Given the description of an element on the screen output the (x, y) to click on. 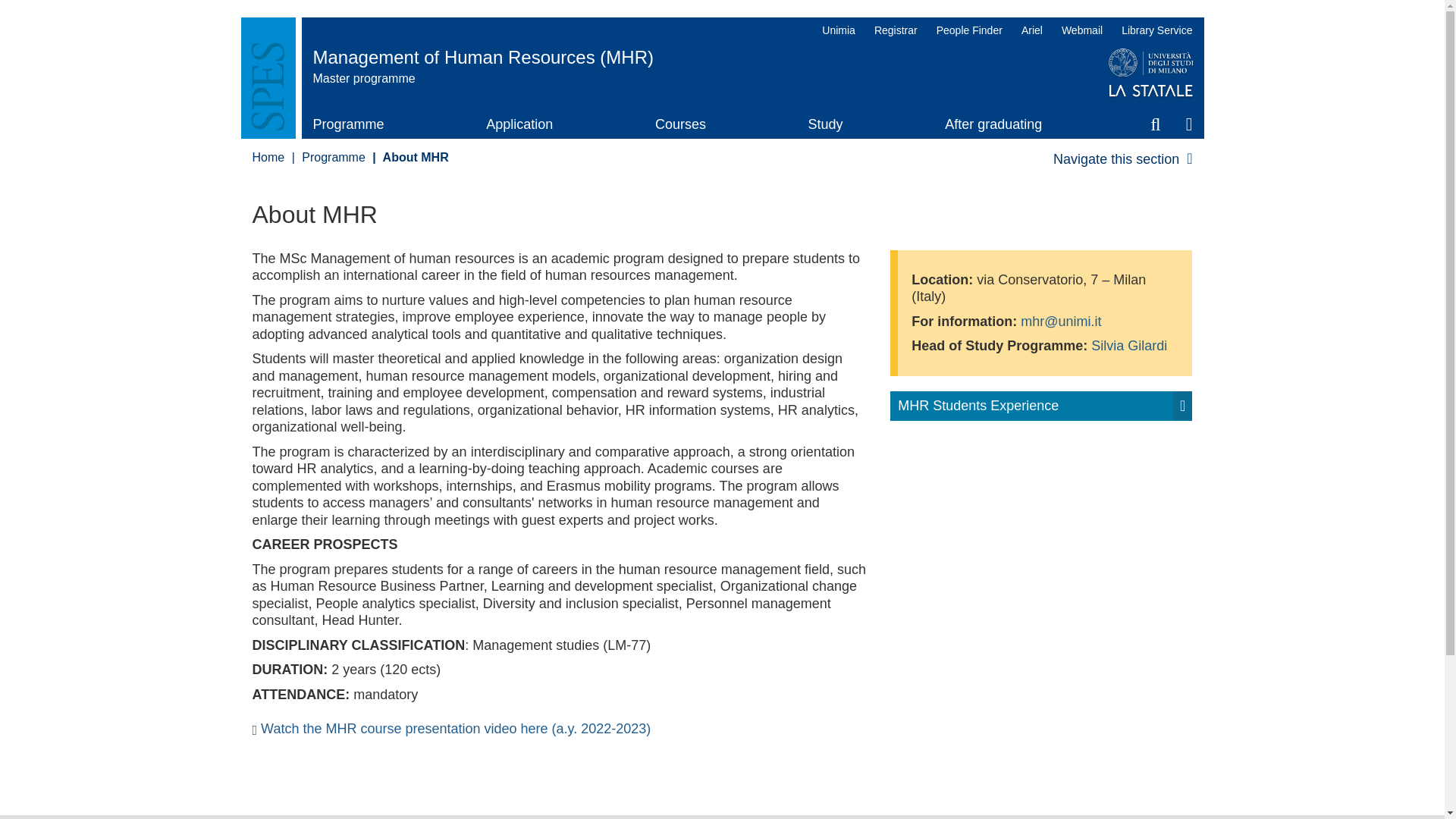
Study (825, 124)
Registrar (895, 29)
Library Service (1152, 29)
Courses (680, 124)
Home page (710, 56)
People Finder (969, 29)
Unimia (838, 29)
Application (519, 124)
After graduating (993, 124)
Ariel (1031, 29)
Programme (348, 124)
Search (1155, 124)
Webmail (1081, 29)
Library Service (1152, 29)
